Given the description of an element on the screen output the (x, y) to click on. 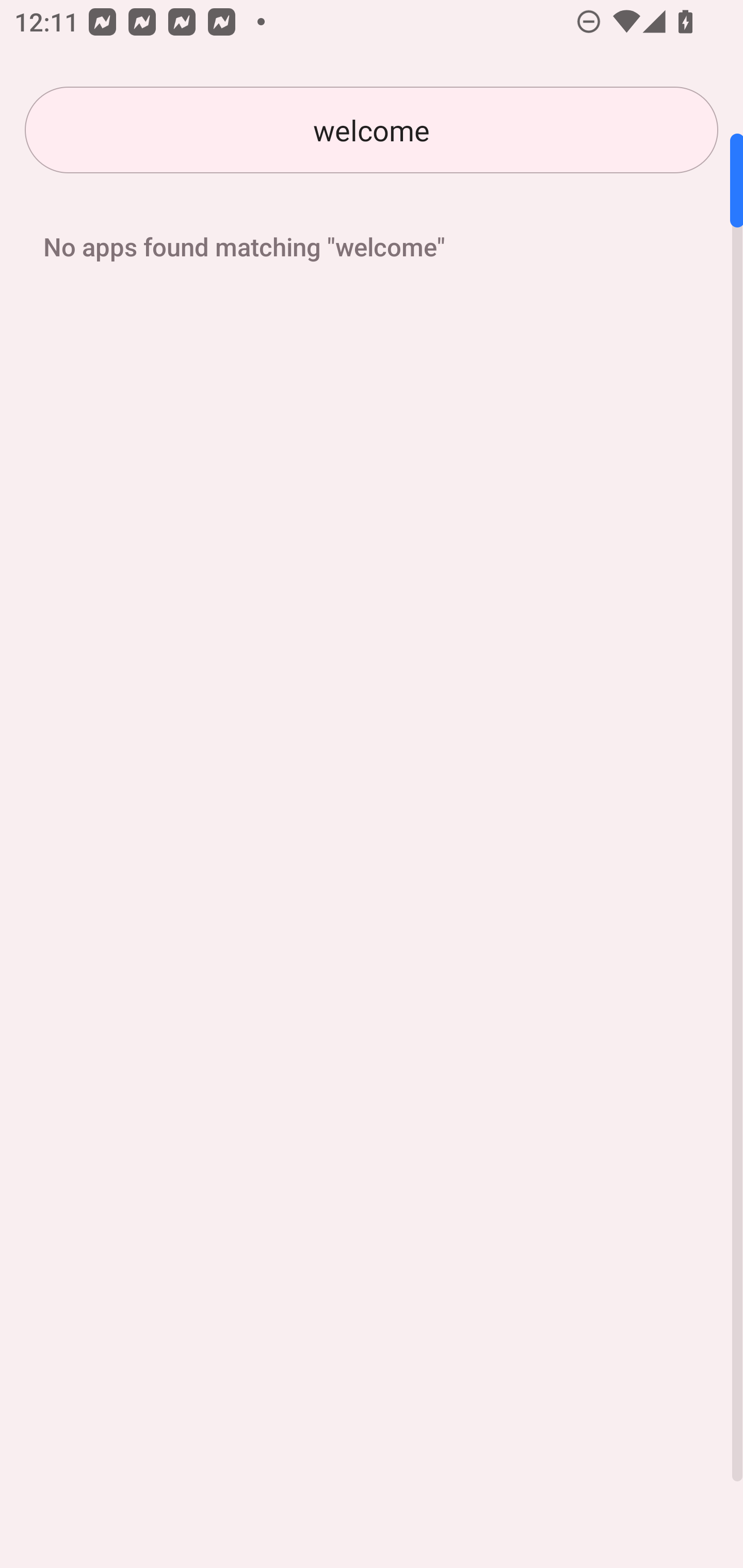
welcome (371, 130)
